Given the description of an element on the screen output the (x, y) to click on. 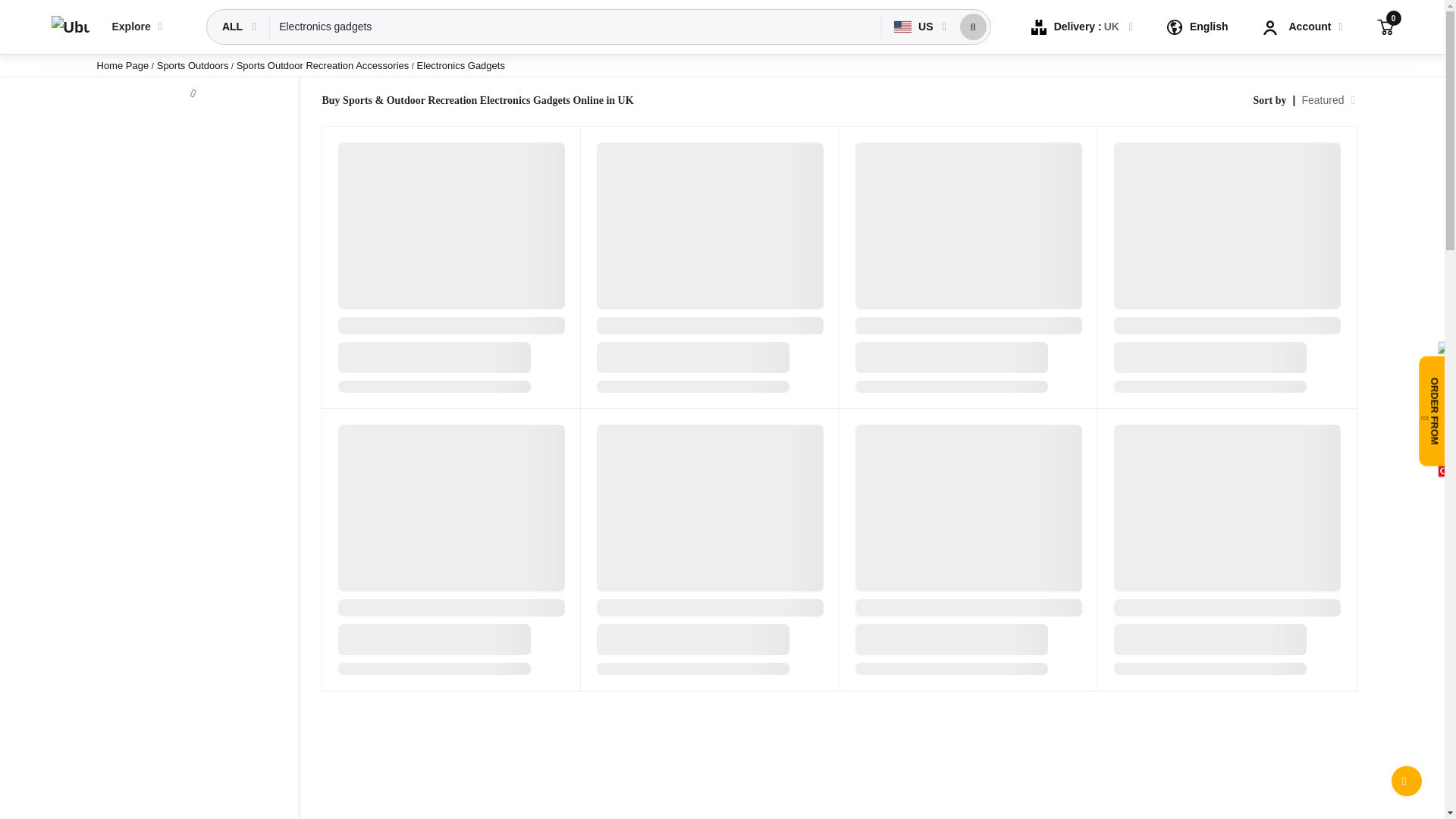
Electronics gadgets (575, 26)
Ubuy (69, 27)
0 (1385, 26)
ALL (234, 26)
US (914, 26)
